Given the description of an element on the screen output the (x, y) to click on. 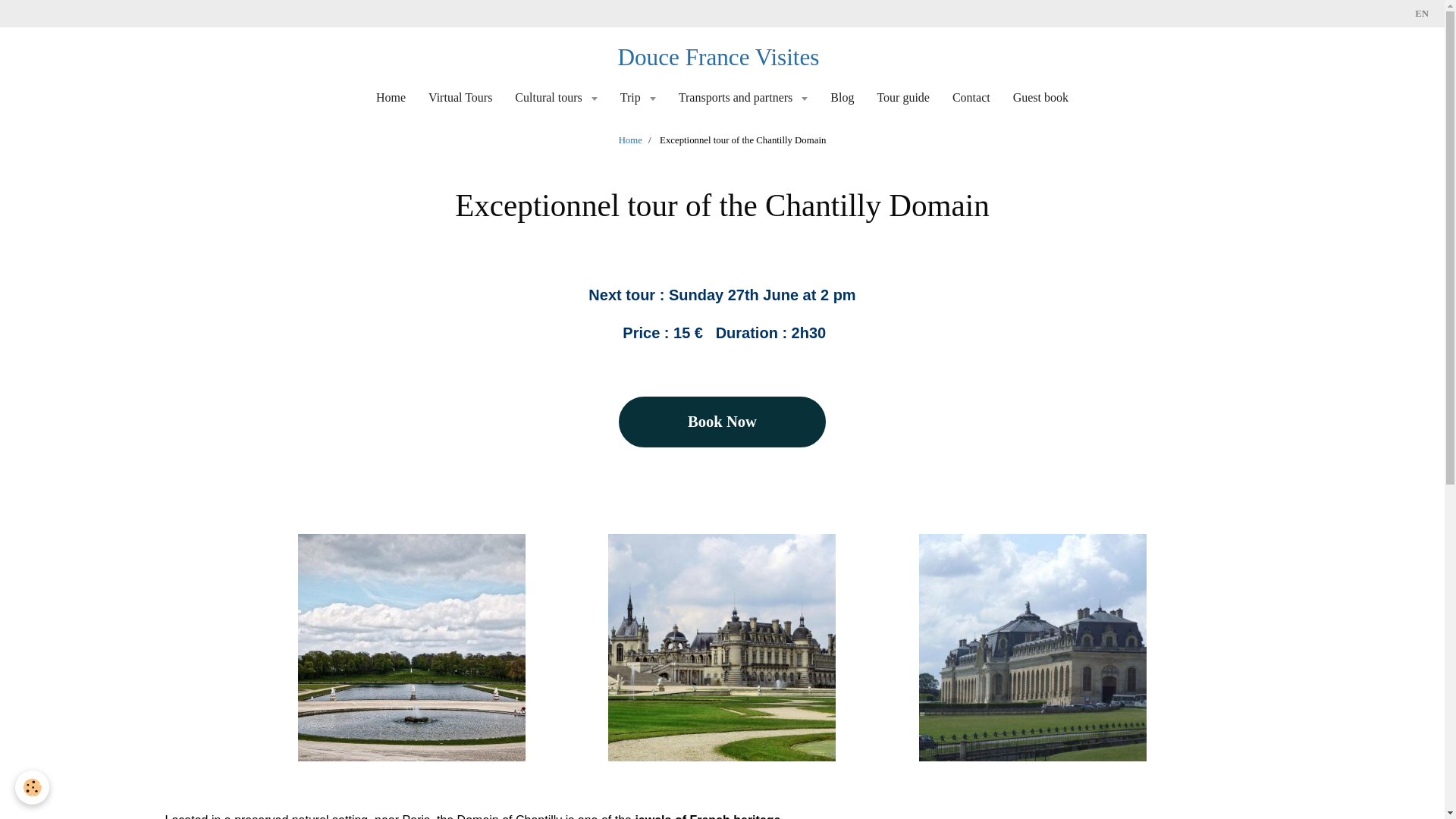
Cultural tours (555, 97)
Chantilly 5 (411, 645)
EN (1421, 13)
Contact (970, 97)
Douce France Visites (717, 59)
Chantilly 6 (1032, 645)
Home (630, 140)
Transports and partners (742, 97)
Book Now (722, 421)
Trip (637, 97)
